Given the description of an element on the screen output the (x, y) to click on. 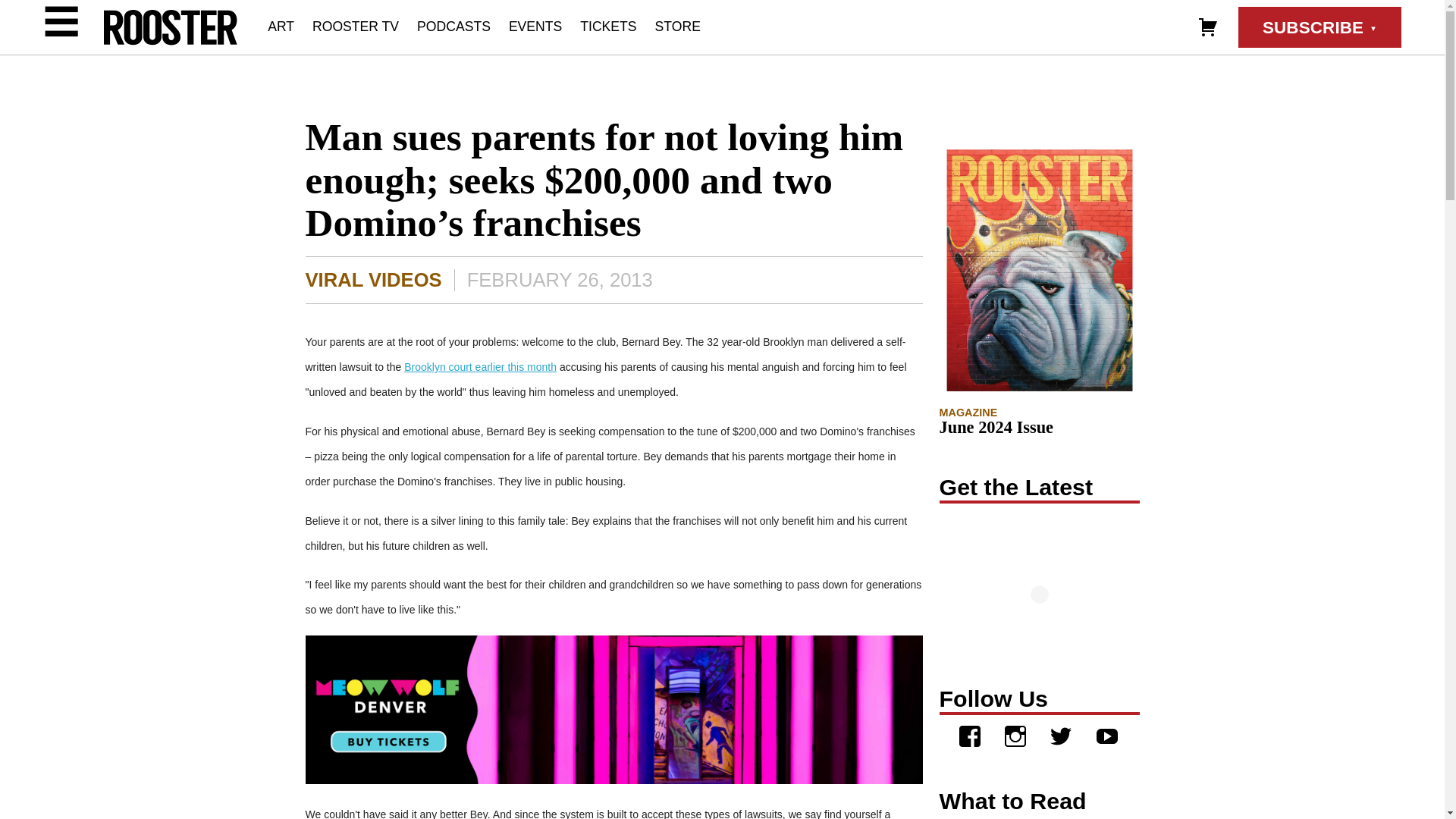
CART (1207, 26)
STORE (677, 26)
ART (280, 26)
ROOSTER TV (355, 26)
EVENTS (535, 26)
PODCASTS (453, 26)
TICKETS (607, 26)
SUBSCRIBE (1319, 27)
